Given the description of an element on the screen output the (x, y) to click on. 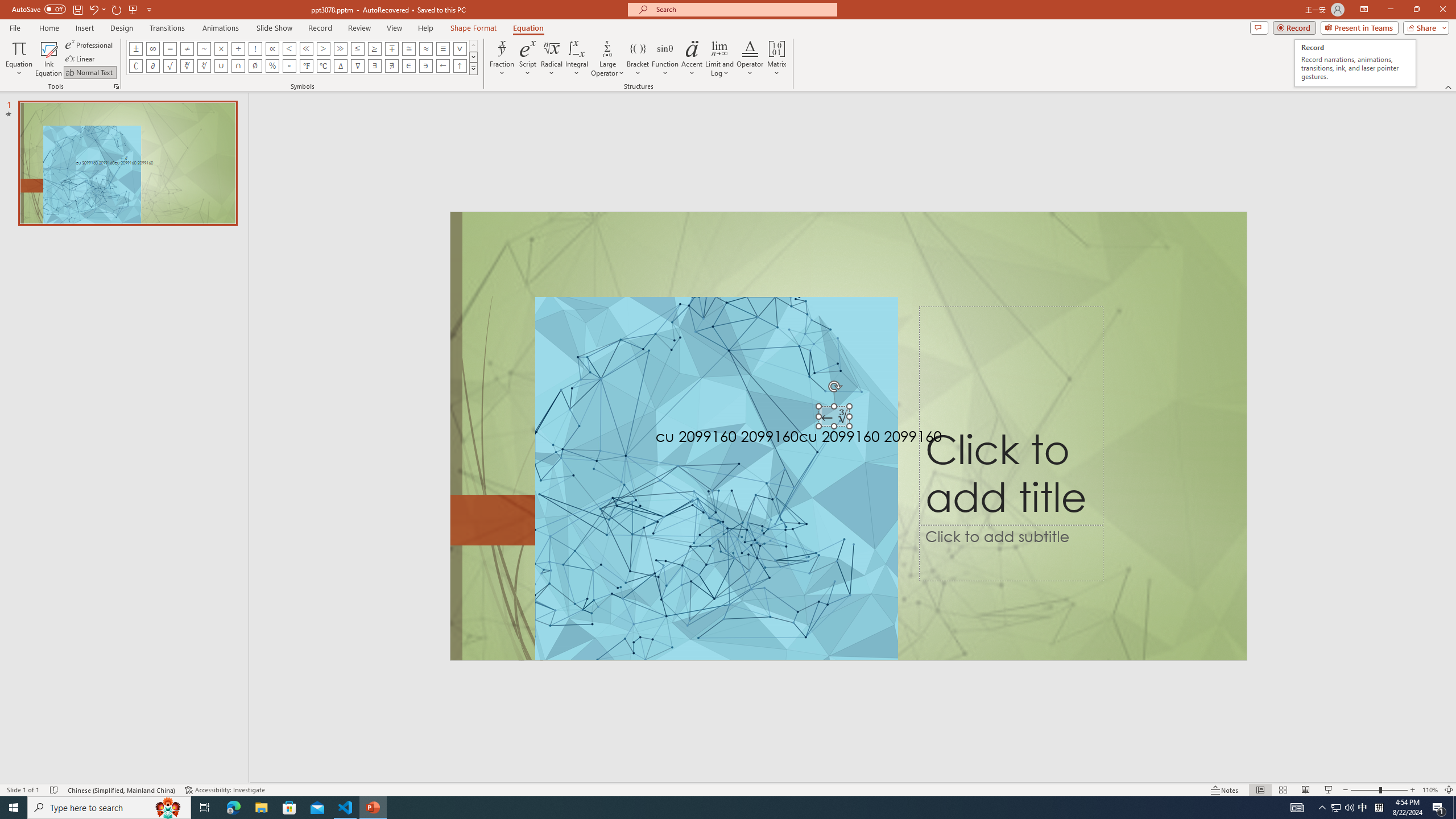
Accent (691, 58)
Equation Symbol Greater Than (322, 48)
Equation Symbol Up Arrow (459, 65)
Operator (749, 58)
Ink Equation (48, 58)
Equation Symbol Proportional To (272, 48)
Equation Symbols (472, 68)
